Given the description of an element on the screen output the (x, y) to click on. 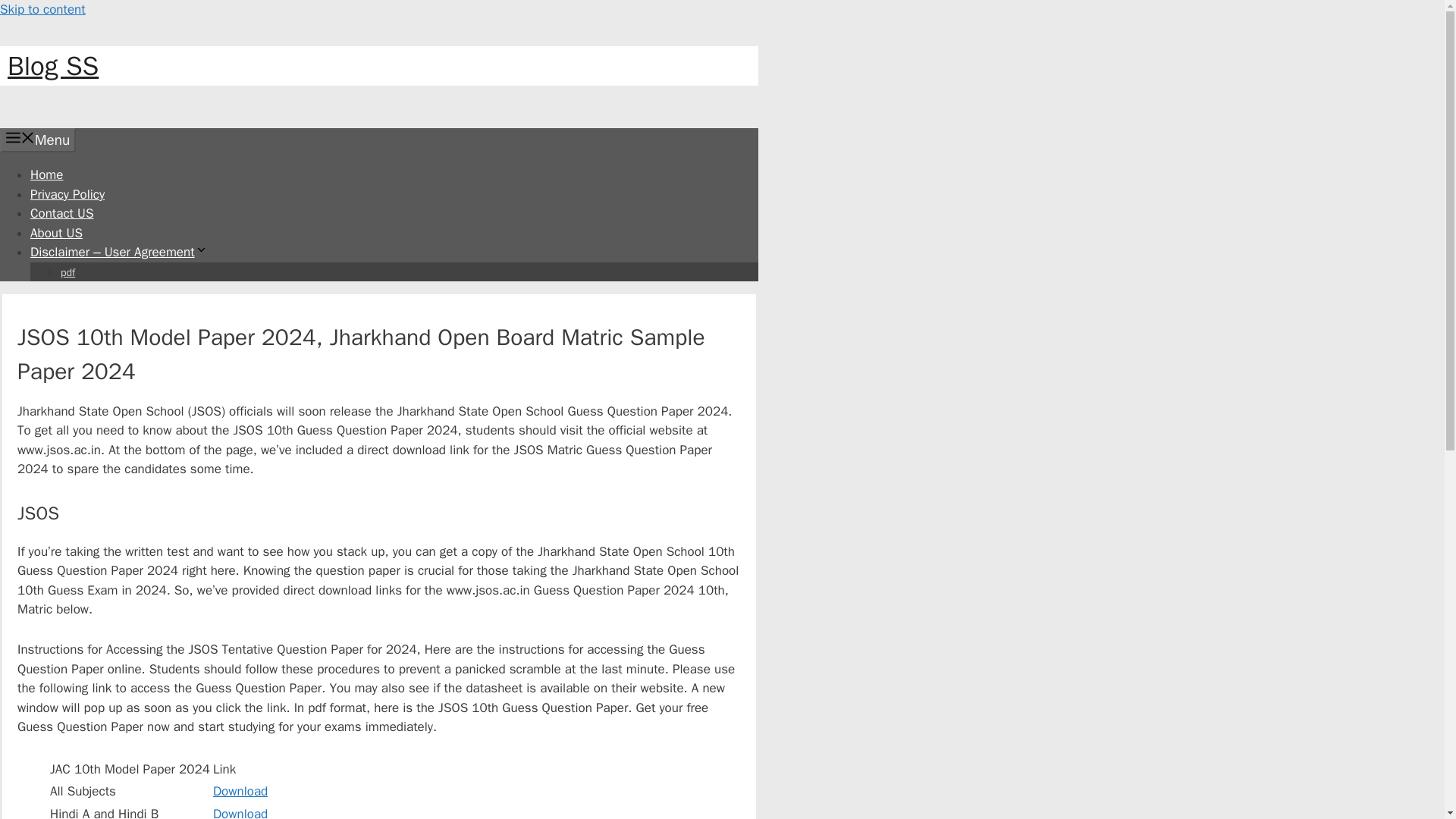
Download (239, 790)
Blog SS (53, 64)
Contact US (62, 213)
About US (56, 232)
Skip to content (42, 9)
Skip to content (42, 9)
Home (46, 174)
Menu (37, 139)
pdf (68, 271)
Privacy Policy (67, 194)
